Given the description of an element on the screen output the (x, y) to click on. 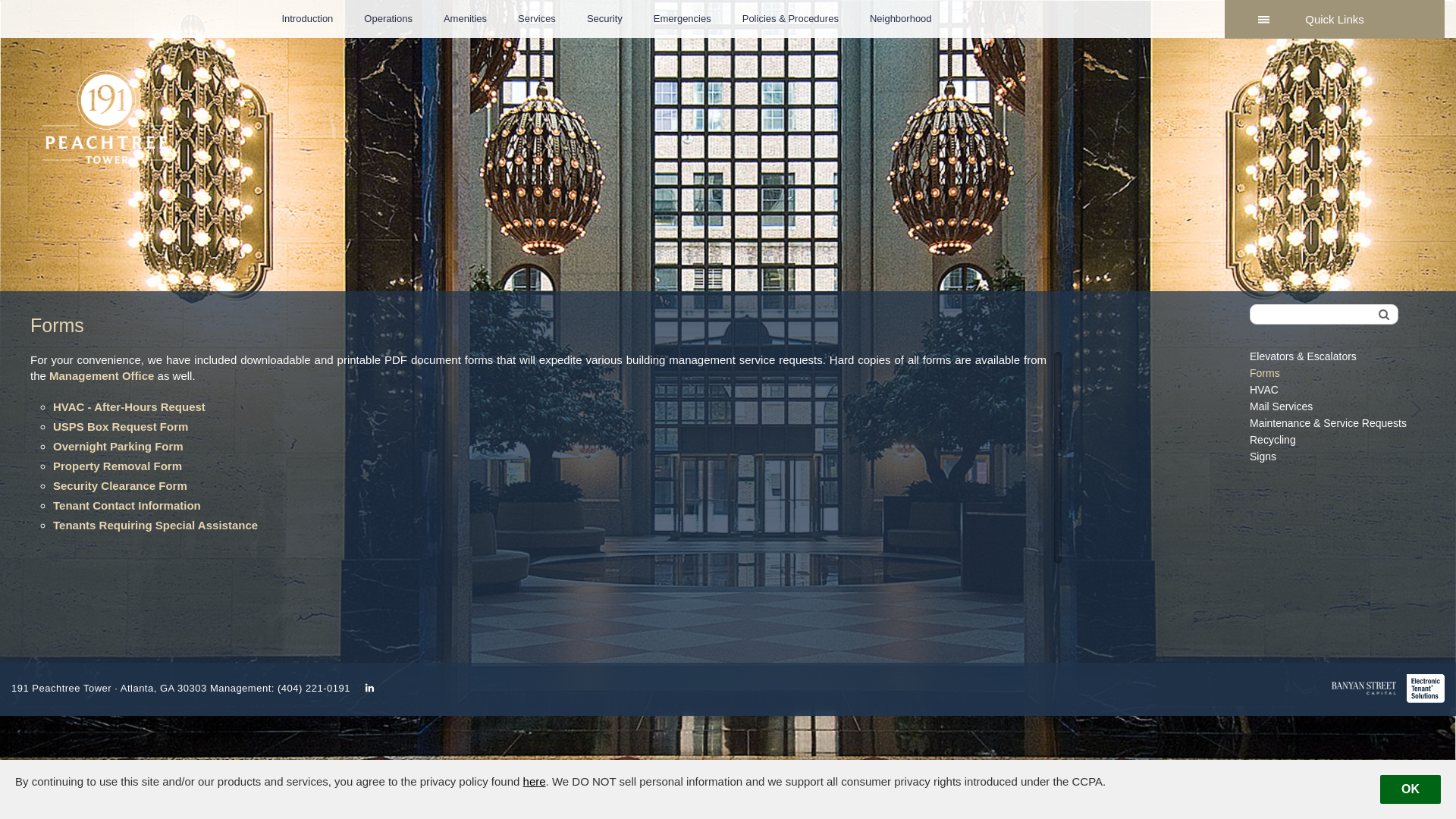
Security Element type: text (604, 18)
Tenant Contact Information Element type: text (126, 504)
Recycling Element type: text (1327, 439)
Signs Element type: text (1327, 456)
here Element type: text (534, 781)
Powered by ETS. Element type: text (476, 13)
Mail Services Element type: text (1327, 406)
Security Clearance Form Element type: text (120, 485)
Emergencies Element type: text (682, 18)
Tenants Requiring Special Assistance Element type: text (155, 524)
Neighborhood Element type: text (900, 18)
USPS Box Request Form Element type: text (120, 426)
Operations Element type: text (388, 18)
HVAC - After-Hours Request Element type: text (129, 406)
Overnight Parking Form Element type: text (118, 445)
Suggestion Box Element type: text (977, 13)
HVAC Element type: text (1327, 389)
Property Removal Form Element type: text (117, 465)
Quick Links Element type: text (1334, 19)
(404) 221-0191 Element type: text (313, 687)
Elevators & Escalators Element type: text (1327, 356)
Amenities Element type: text (464, 18)
Forms Element type: text (1327, 372)
Policies & Procedures Element type: text (790, 18)
Management Office Element type: text (101, 375)
Maintenance & Service Requests Element type: text (1327, 422)
Services Element type: text (536, 18)
Introduction Element type: text (306, 18)
